Given the description of an element on the screen output the (x, y) to click on. 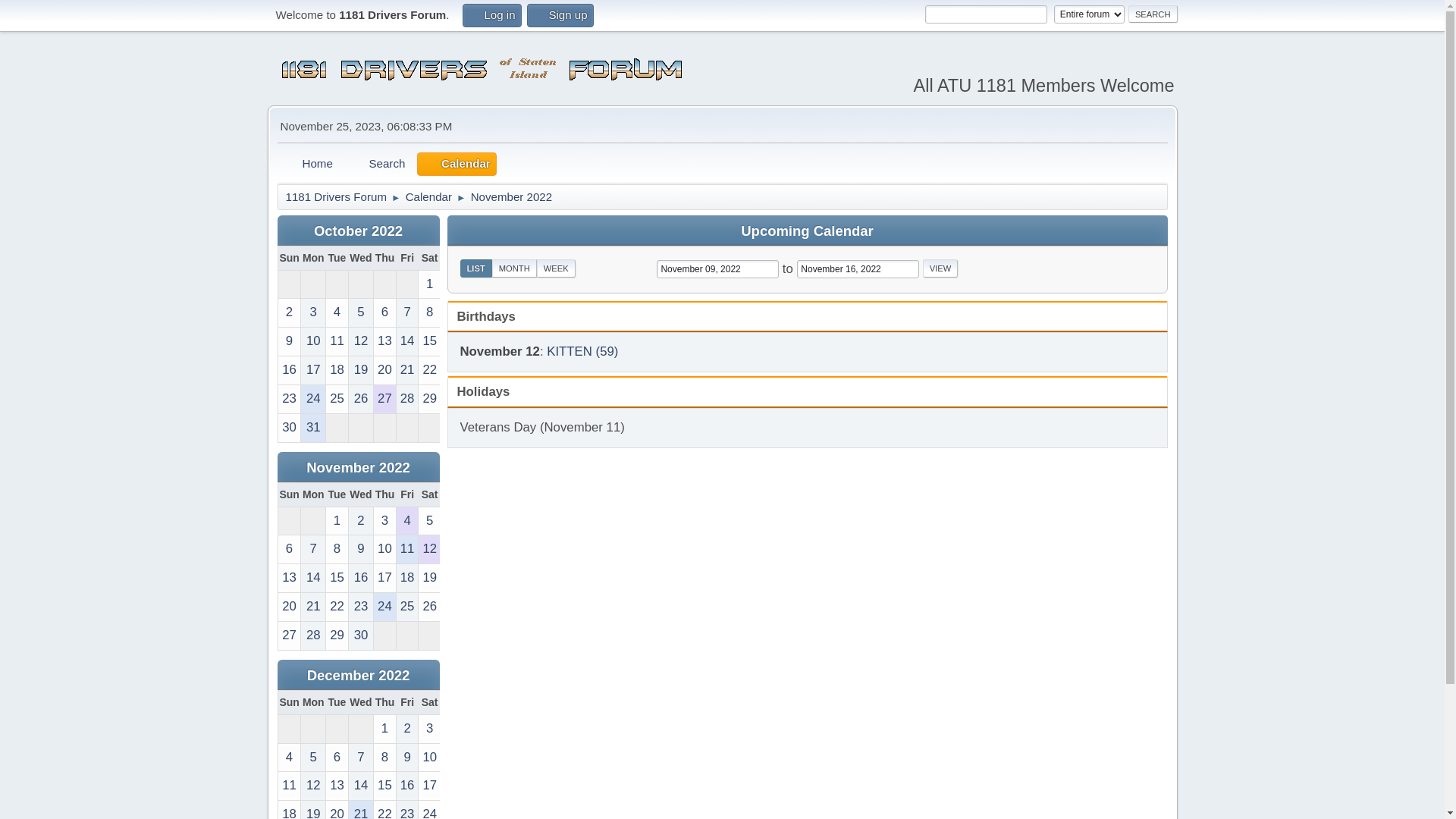
17 Element type: text (313, 370)
11 Element type: text (288, 785)
12 Element type: text (429, 549)
4 Element type: text (407, 521)
November 2022 Element type: text (357, 467)
5 Element type: text (429, 521)
17 Element type: text (429, 785)
2 Element type: text (360, 521)
27 Element type: text (288, 635)
Search Element type: text (377, 163)
31 Element type: text (313, 428)
View Element type: text (940, 268)
29 Element type: text (429, 399)
December 2022 Element type: text (358, 675)
12 Element type: text (360, 341)
2 Element type: text (288, 312)
21 Element type: text (313, 607)
3 Element type: text (384, 521)
9 Element type: text (407, 757)
WEEK Element type: text (555, 268)
20 Element type: text (384, 370)
12 Element type: text (313, 785)
7 Element type: text (407, 312)
Sign up Element type: text (560, 15)
KITTEN (59) Element type: text (582, 351)
Home Element type: text (307, 163)
21 Element type: text (407, 370)
30 Element type: text (360, 635)
6 Element type: text (337, 757)
9 Element type: text (360, 549)
18 Element type: text (337, 370)
16 Element type: text (288, 370)
October 2022 Element type: text (358, 230)
Calendar Element type: text (456, 163)
LIST Element type: text (475, 268)
November 2022 Element type: text (511, 194)
18 Element type: text (407, 578)
24 Element type: text (384, 607)
Log in Element type: text (491, 15)
23 Element type: text (360, 607)
1 Element type: text (337, 521)
28 Element type: text (407, 399)
9 Element type: text (288, 341)
8 Element type: text (337, 549)
25 Element type: text (407, 607)
15 Element type: text (384, 785)
8 Element type: text (384, 757)
29 Element type: text (337, 635)
8 Element type: text (429, 312)
24 Element type: text (313, 399)
16 Element type: text (407, 785)
2 Element type: text (407, 729)
15 Element type: text (337, 578)
Calendar Element type: text (428, 194)
10 Element type: text (429, 757)
5 Element type: text (360, 312)
26 Element type: text (360, 399)
13 Element type: text (337, 785)
19 Element type: text (429, 578)
30 Element type: text (288, 428)
10 Element type: text (384, 549)
20 Element type: text (288, 607)
23 Element type: text (288, 399)
6 Element type: text (384, 312)
1181 Drivers Forum Element type: text (335, 194)
13 Element type: text (384, 341)
Search Element type: text (1152, 14)
3 Element type: text (313, 312)
14 Element type: text (360, 785)
11 Element type: text (407, 549)
22 Element type: text (429, 370)
7 Element type: text (313, 549)
MONTH Element type: text (514, 268)
16 Element type: text (360, 578)
4 Element type: text (337, 312)
28 Element type: text (313, 635)
3 Element type: text (429, 729)
5 Element type: text (313, 757)
19 Element type: text (360, 370)
14 Element type: text (407, 341)
14 Element type: text (313, 578)
11 Element type: text (337, 341)
26 Element type: text (429, 607)
1 Element type: text (429, 284)
1 Element type: text (384, 729)
Upcoming Calendar Element type: text (806, 230)
15 Element type: text (429, 341)
25 Element type: text (337, 399)
7 Element type: text (360, 757)
4 Element type: text (288, 757)
6 Element type: text (288, 549)
10 Element type: text (313, 341)
27 Element type: text (384, 399)
13 Element type: text (288, 578)
17 Element type: text (384, 578)
22 Element type: text (337, 607)
